Given the description of an element on the screen output the (x, y) to click on. 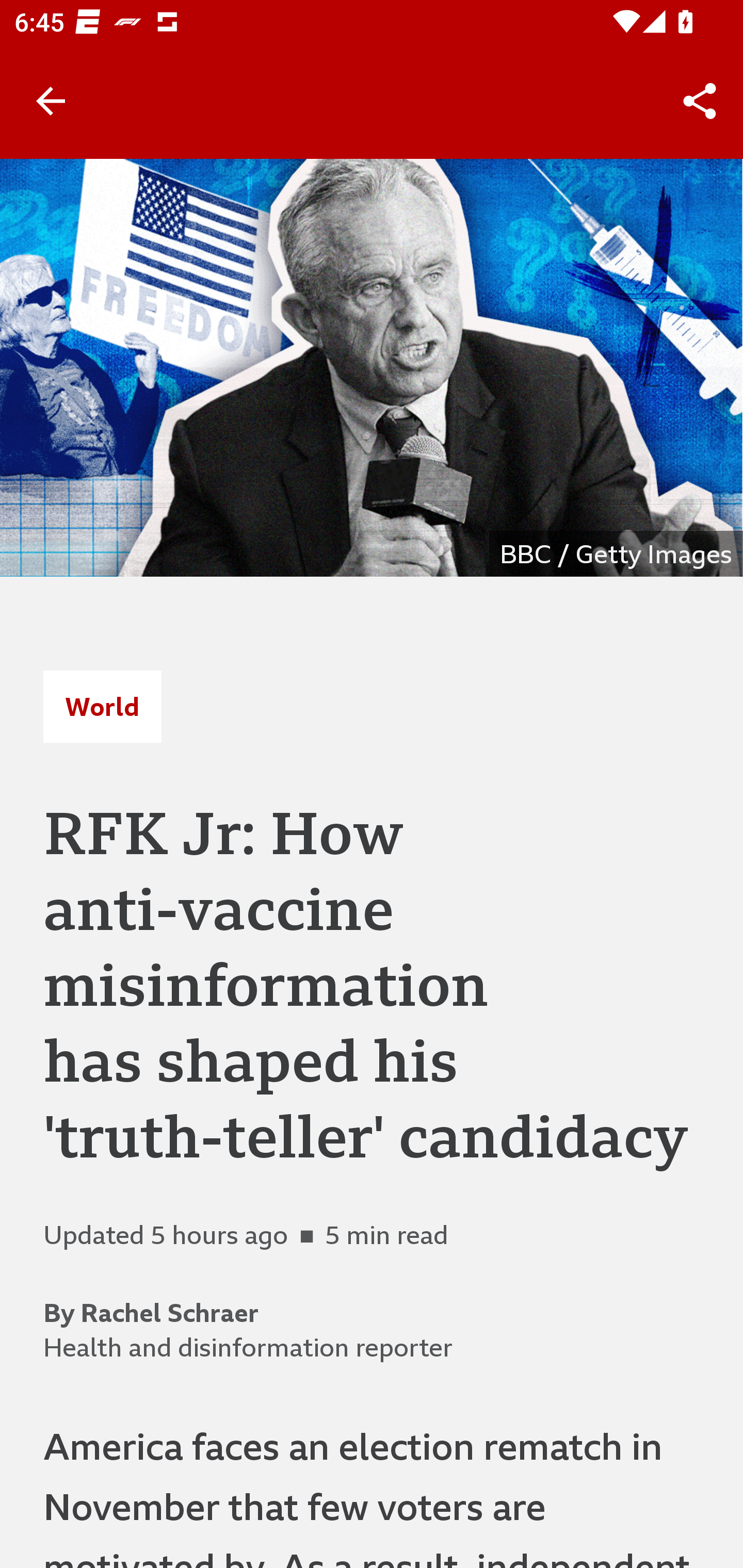
Back (50, 101)
Share (699, 101)
World (102, 706)
